Given the description of an element on the screen output the (x, y) to click on. 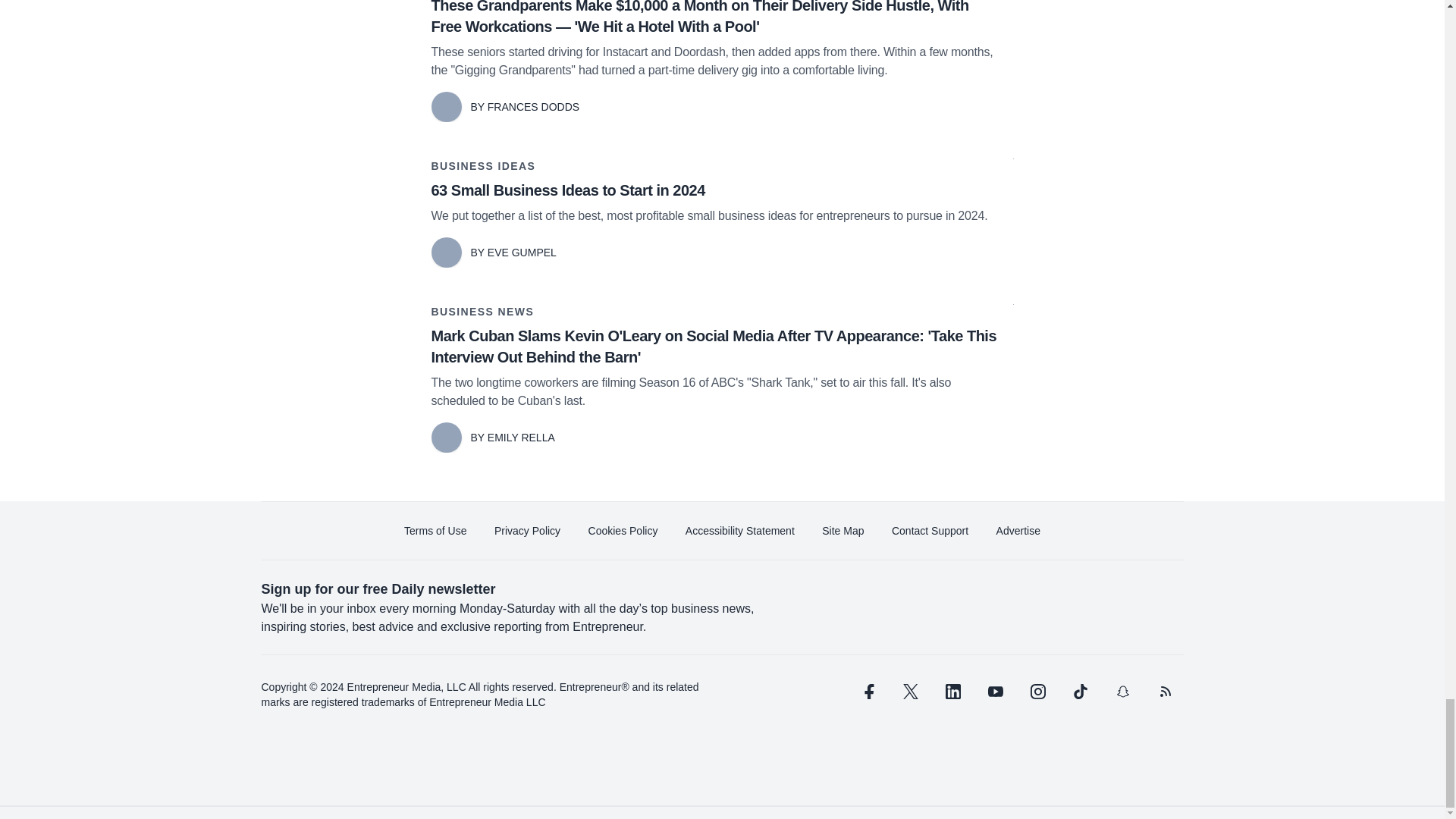
rss (1164, 691)
facebook (866, 691)
youtube (994, 691)
twitter (909, 691)
tiktok (1079, 691)
instagram (1037, 691)
linkedin (952, 691)
snapchat (1121, 691)
